Given the description of an element on the screen output the (x, y) to click on. 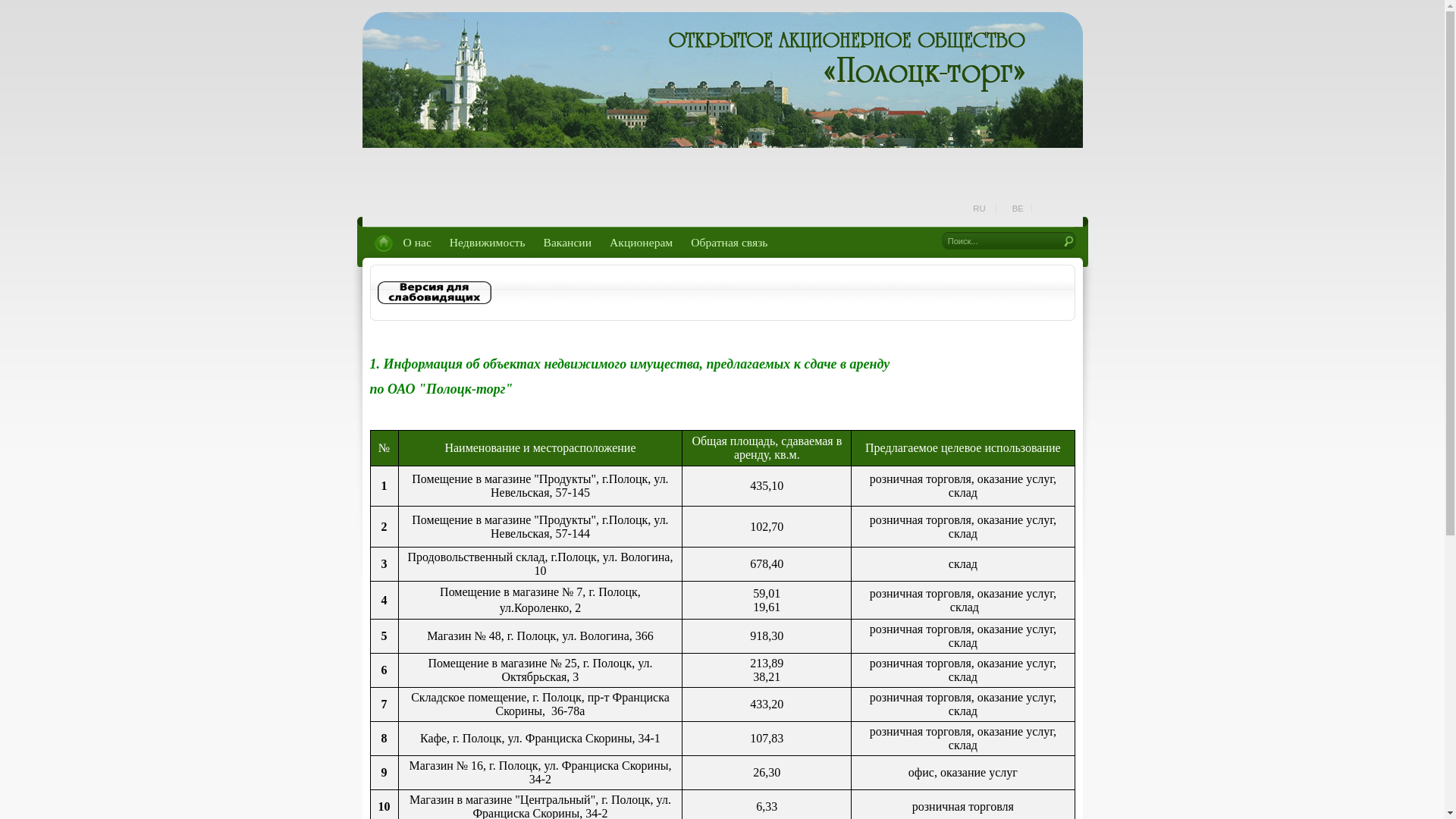
RU Element type: text (979, 208)
BE Element type: text (1017, 208)
